Given the description of an element on the screen output the (x, y) to click on. 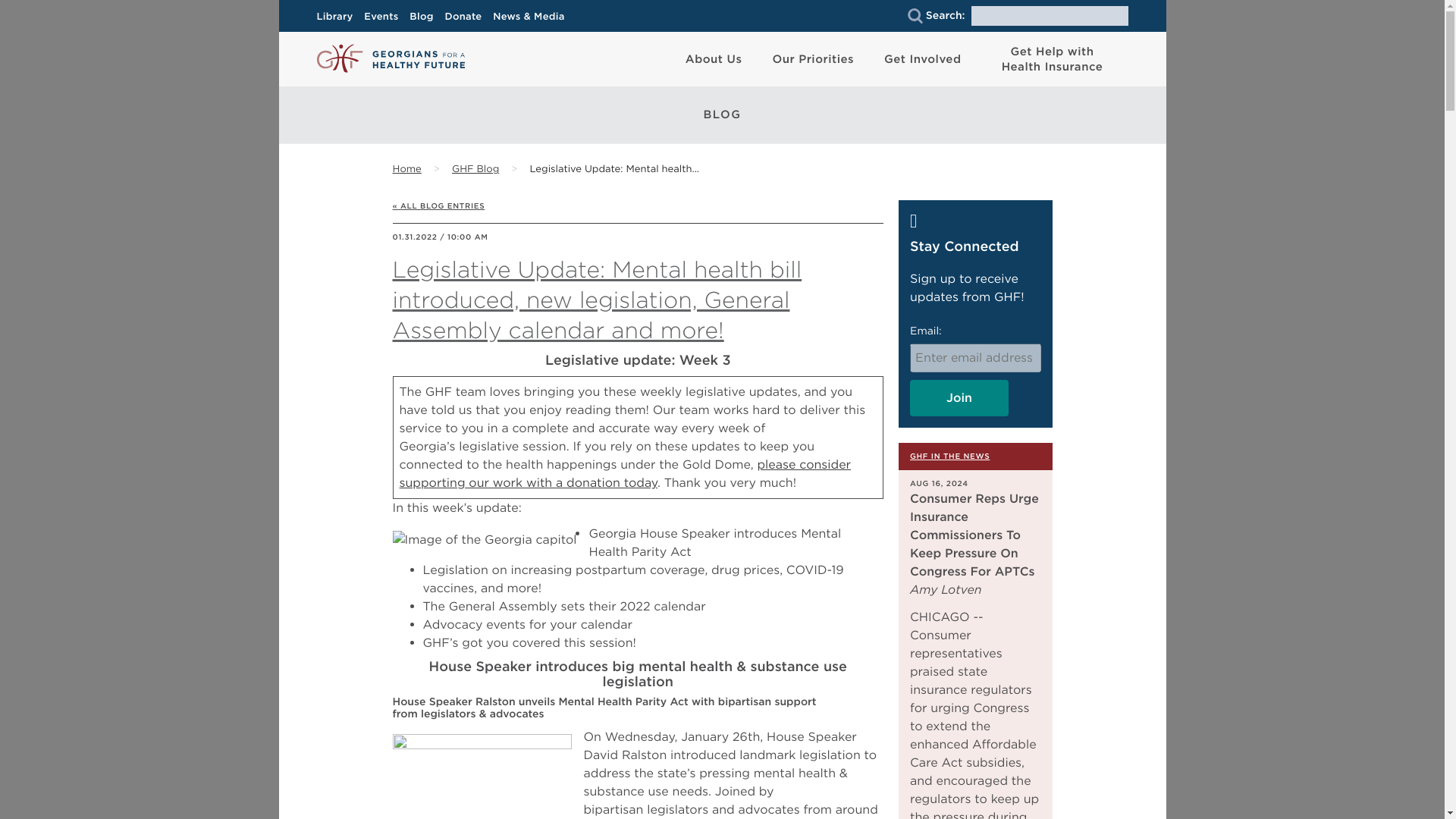
Library (339, 16)
Blog (425, 16)
Donate (467, 16)
Events (385, 16)
Category Name (475, 169)
